Given the description of an element on the screen output the (x, y) to click on. 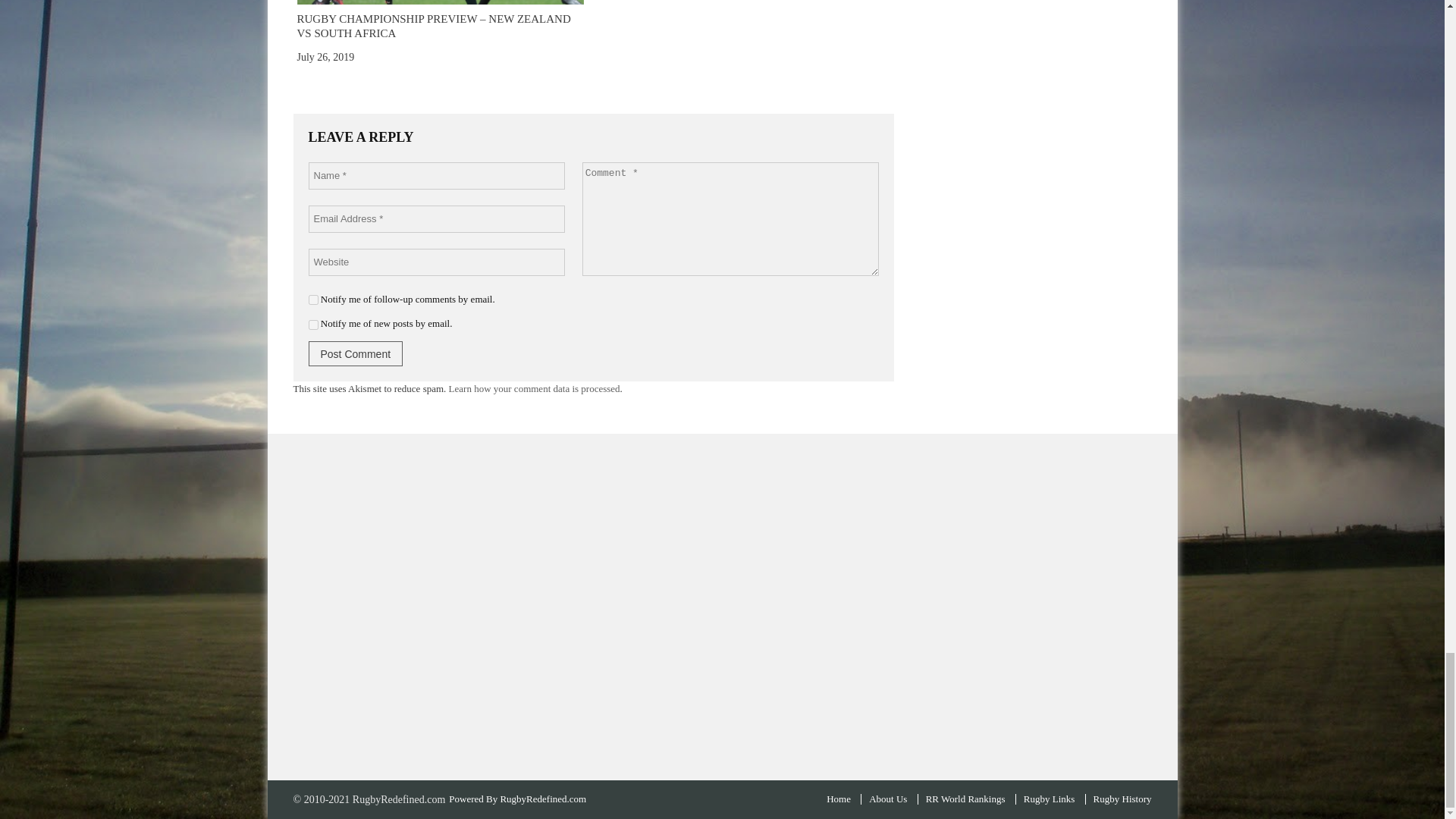
July 26, 2019 (326, 57)
subscribe (312, 299)
subscribe (312, 325)
Post Comment (355, 353)
